Given the description of an element on the screen output the (x, y) to click on. 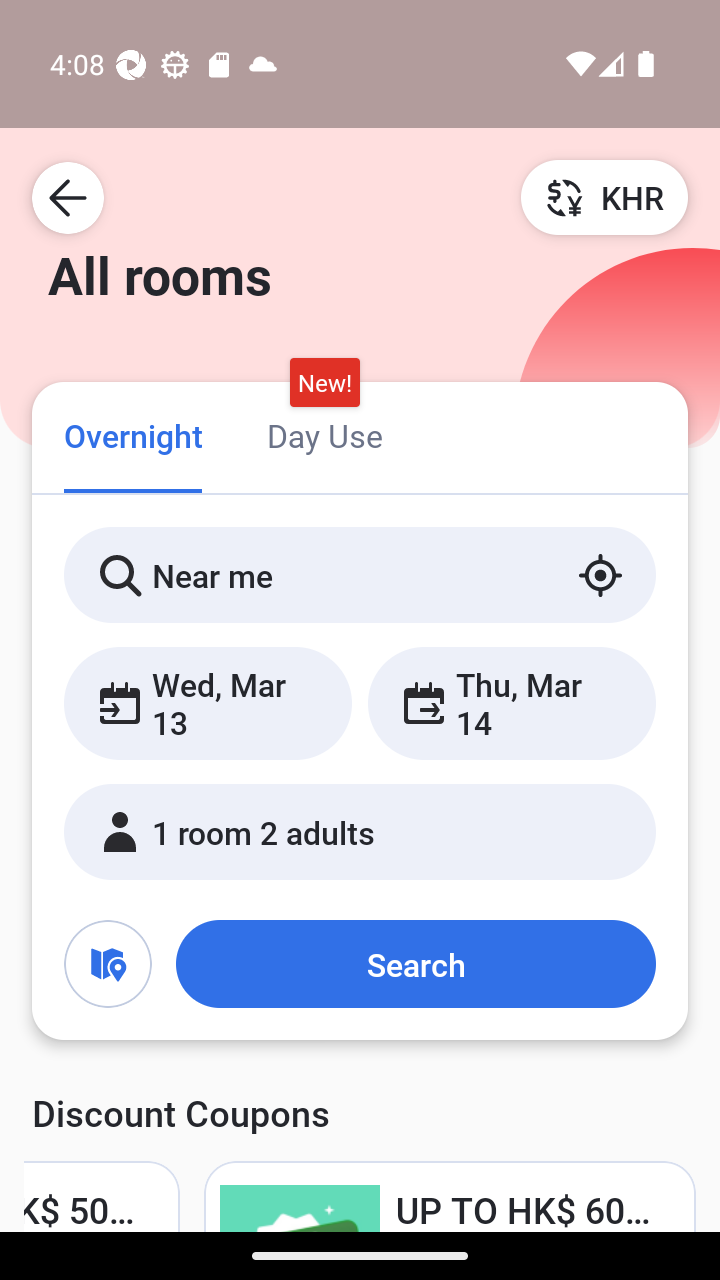
KHR (604, 197)
New! (324, 383)
Day Use (324, 434)
Near me (359, 575)
Wed, Mar 13 (208, 703)
Thu, Mar 14 (511, 703)
1 room 2 adults (359, 831)
Search (415, 964)
